Given the description of an element on the screen output the (x, y) to click on. 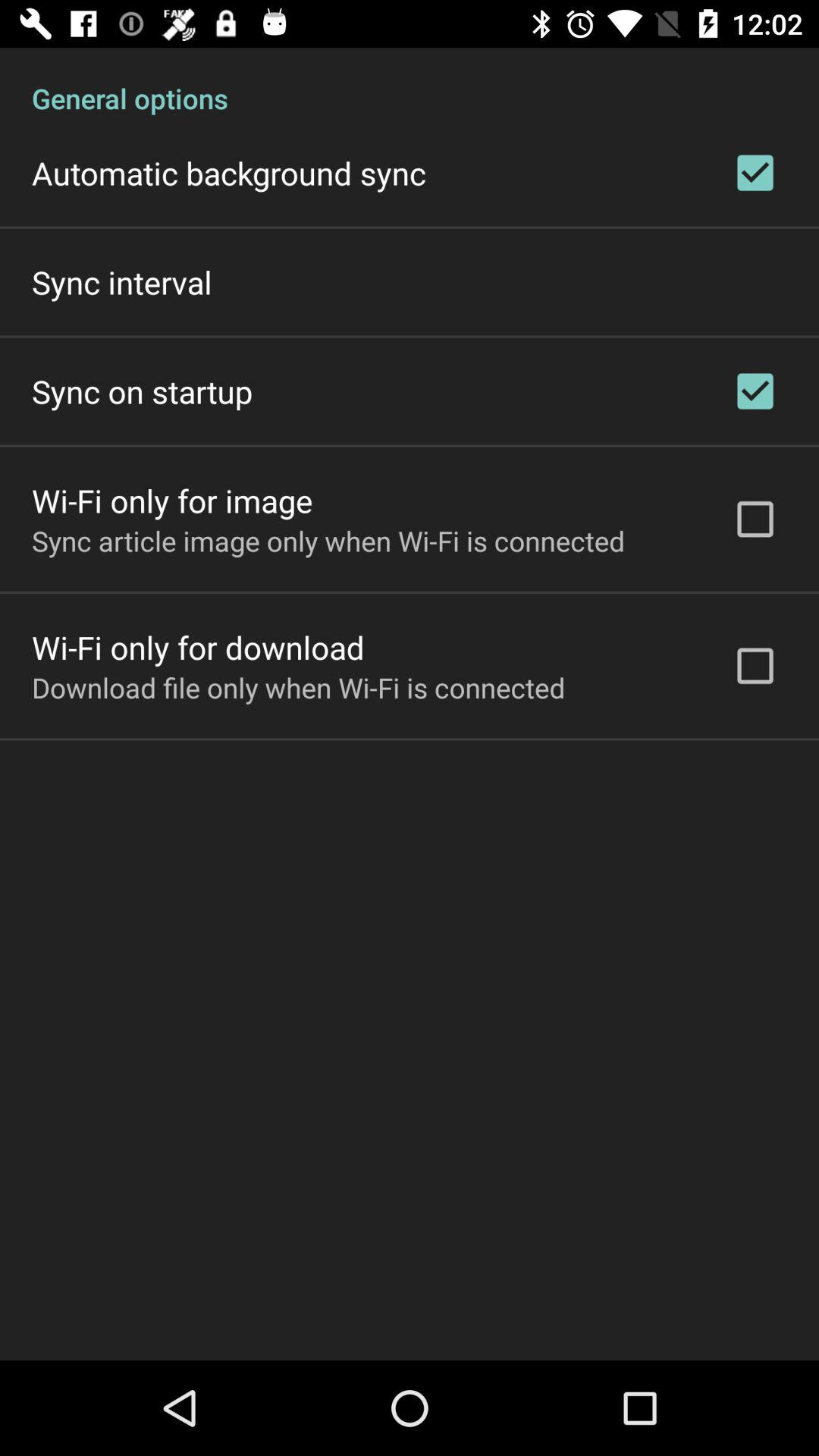
jump until sync on startup item (141, 390)
